Given the description of an element on the screen output the (x, y) to click on. 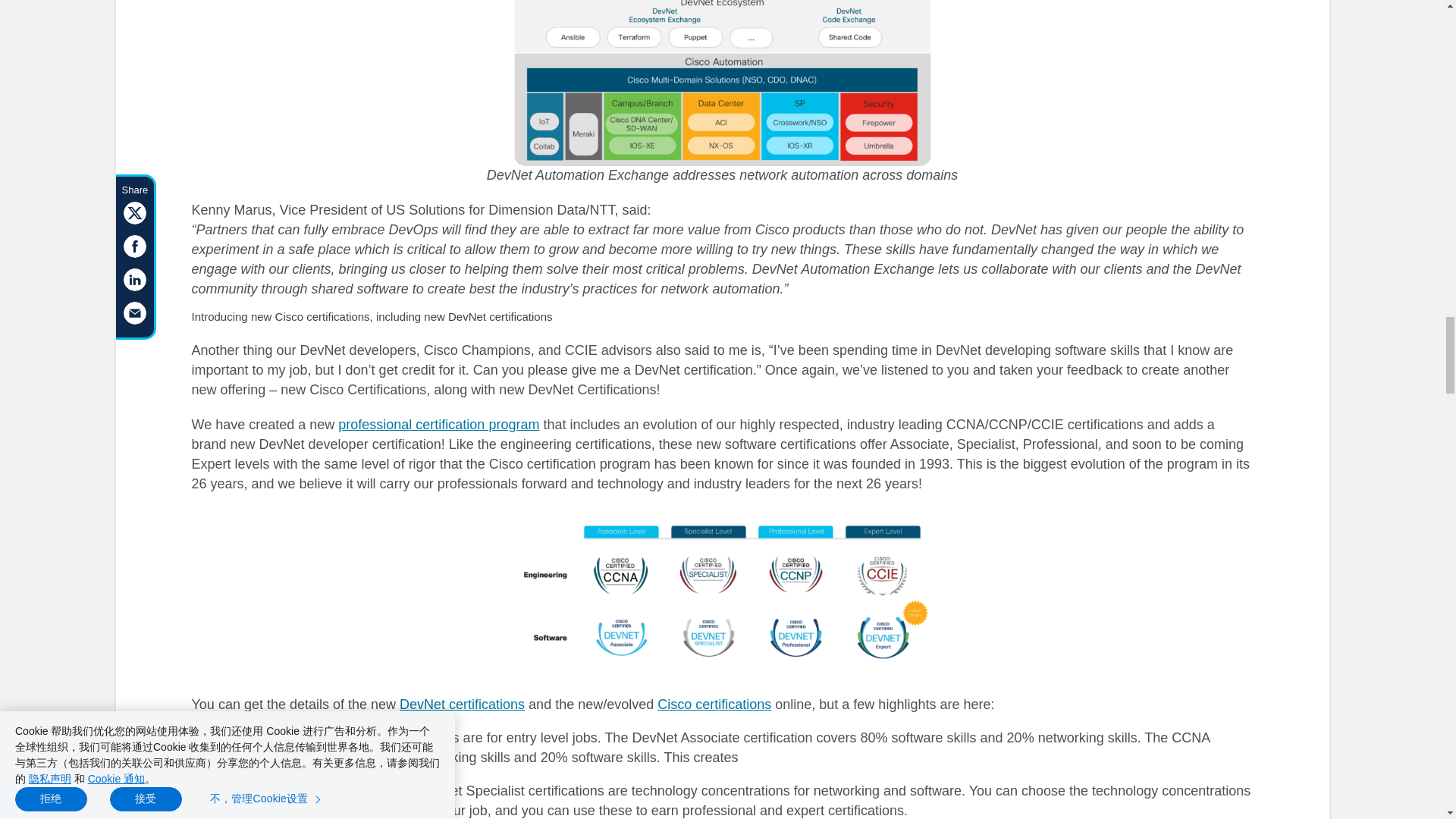
DevNet certifications (461, 703)
Cisco certifications (714, 703)
professional certification program (437, 424)
